Given the description of an element on the screen output the (x, y) to click on. 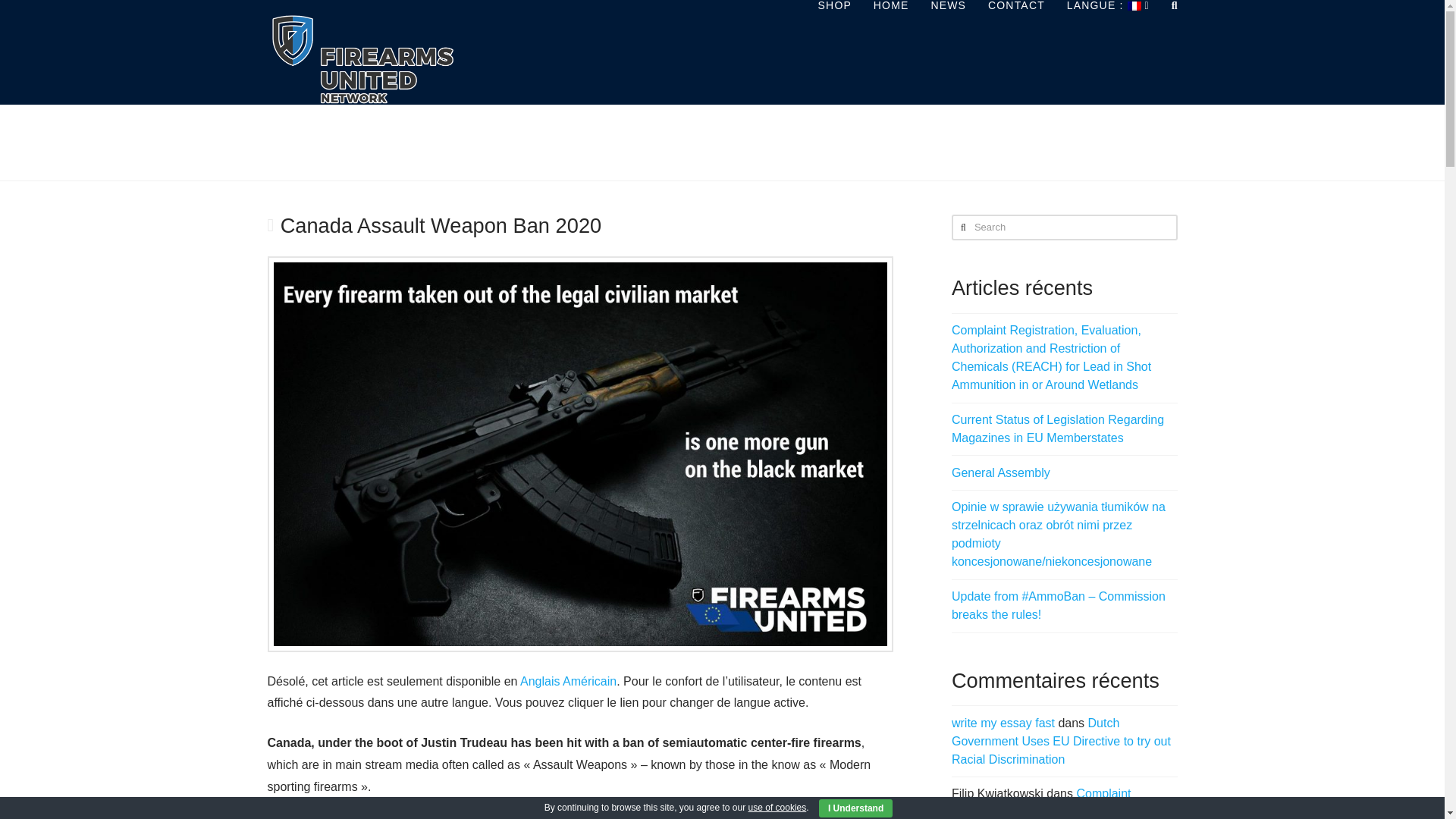
CONTACT (1015, 33)
LANGUE :  (1107, 33)
